Given the description of an element on the screen output the (x, y) to click on. 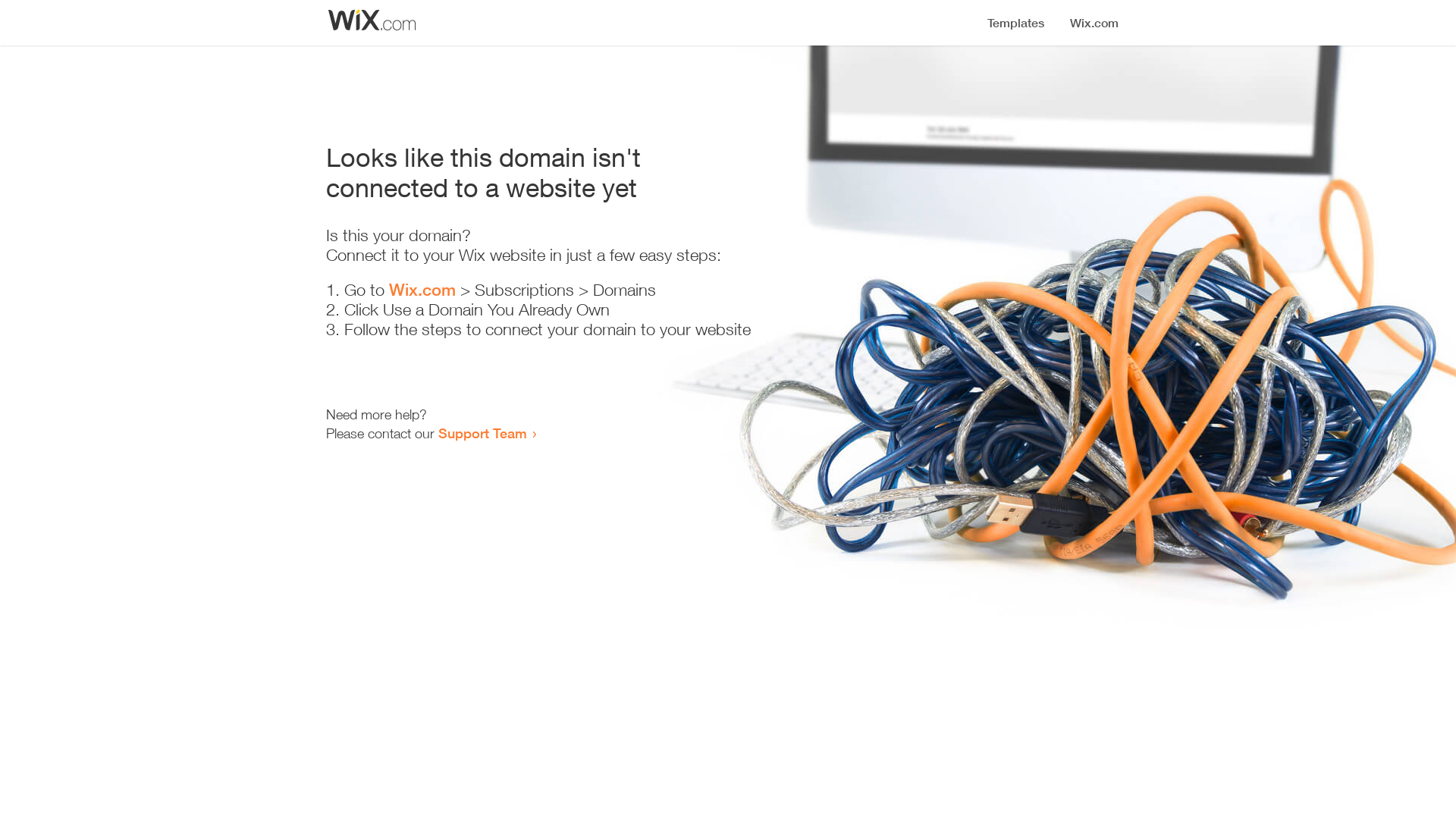
Wix.com Element type: text (422, 289)
Support Team Element type: text (482, 432)
